Given the description of an element on the screen output the (x, y) to click on. 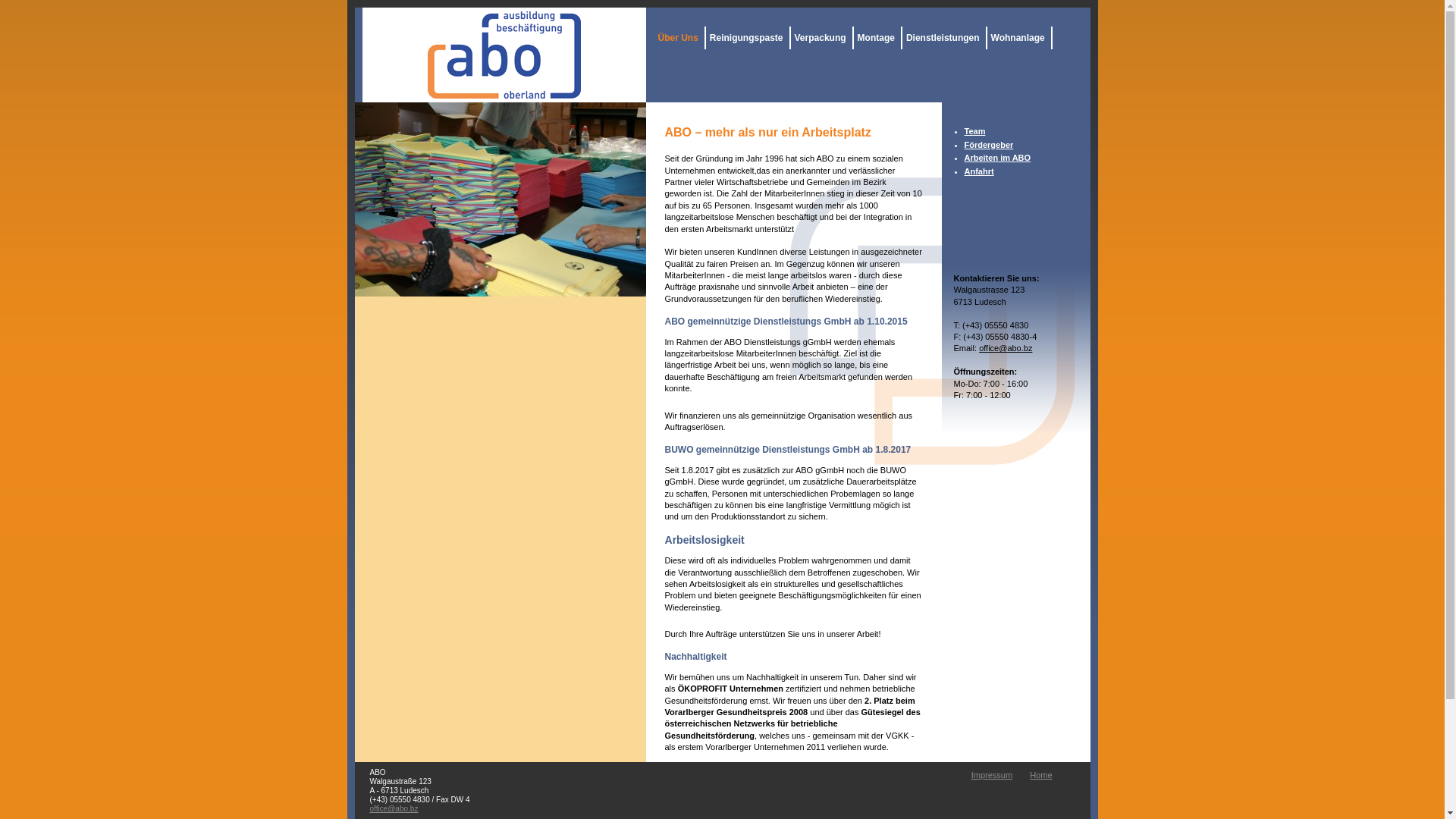
Arbeiten im ABO Element type: text (997, 157)
Anfahrt Element type: text (979, 170)
Reinigungspaste Element type: text (748, 37)
office@abo.bz Element type: text (394, 808)
Home Element type: text (1040, 774)
Montage Element type: text (877, 37)
office@abo.bz Element type: text (1005, 347)
Impressum Element type: text (991, 774)
Zur Homepage Element type: text (504, 54)
Dienstleistungen Element type: text (944, 37)
Team Element type: text (974, 130)
Verpackung Element type: text (821, 37)
Wohnanlage Element type: text (1019, 37)
